Given the description of an element on the screen output the (x, y) to click on. 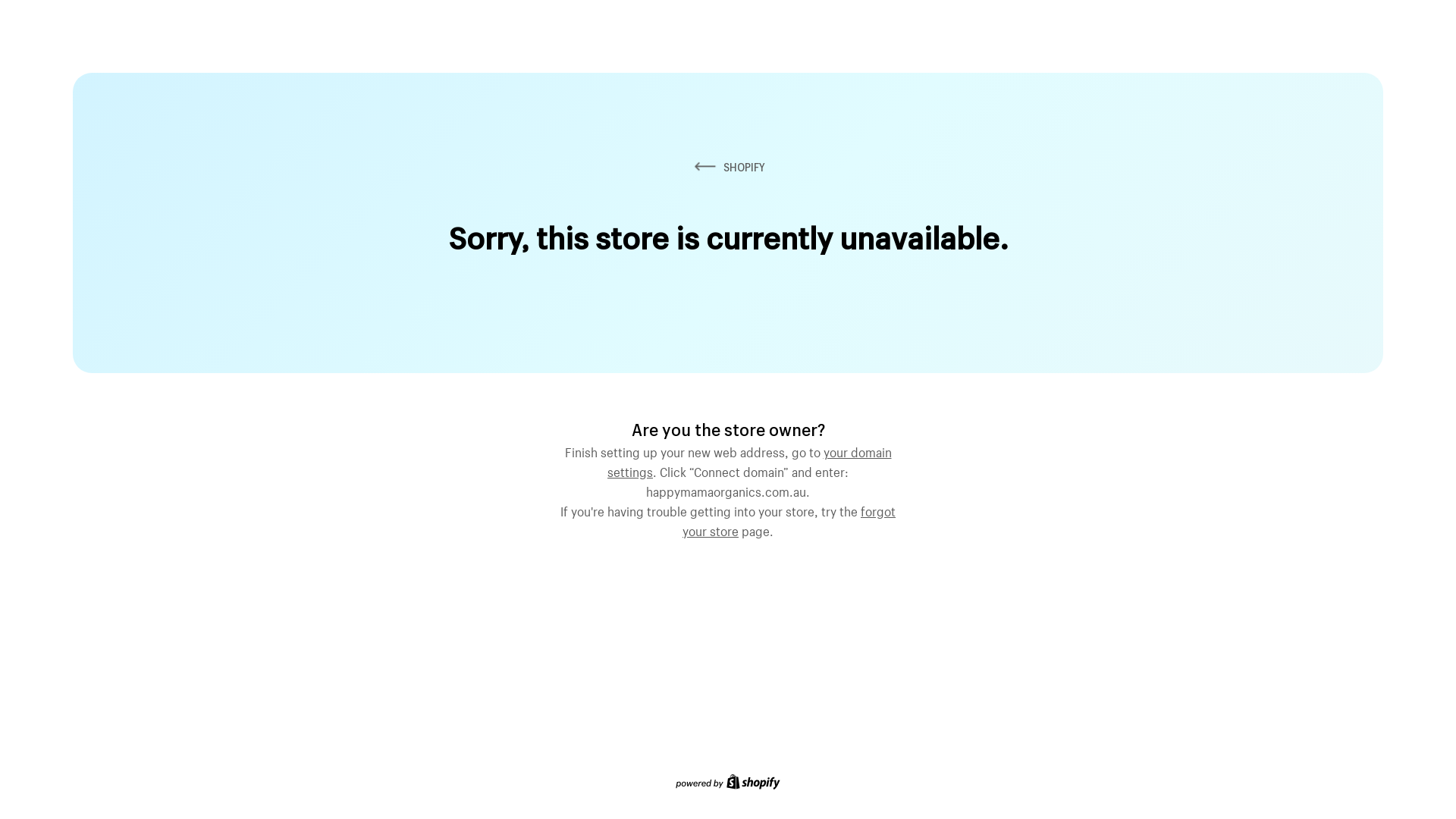
your domain settings Element type: text (749, 460)
SHOPIFY Element type: text (727, 167)
forgot your store Element type: text (788, 519)
